Given the description of an element on the screen output the (x, y) to click on. 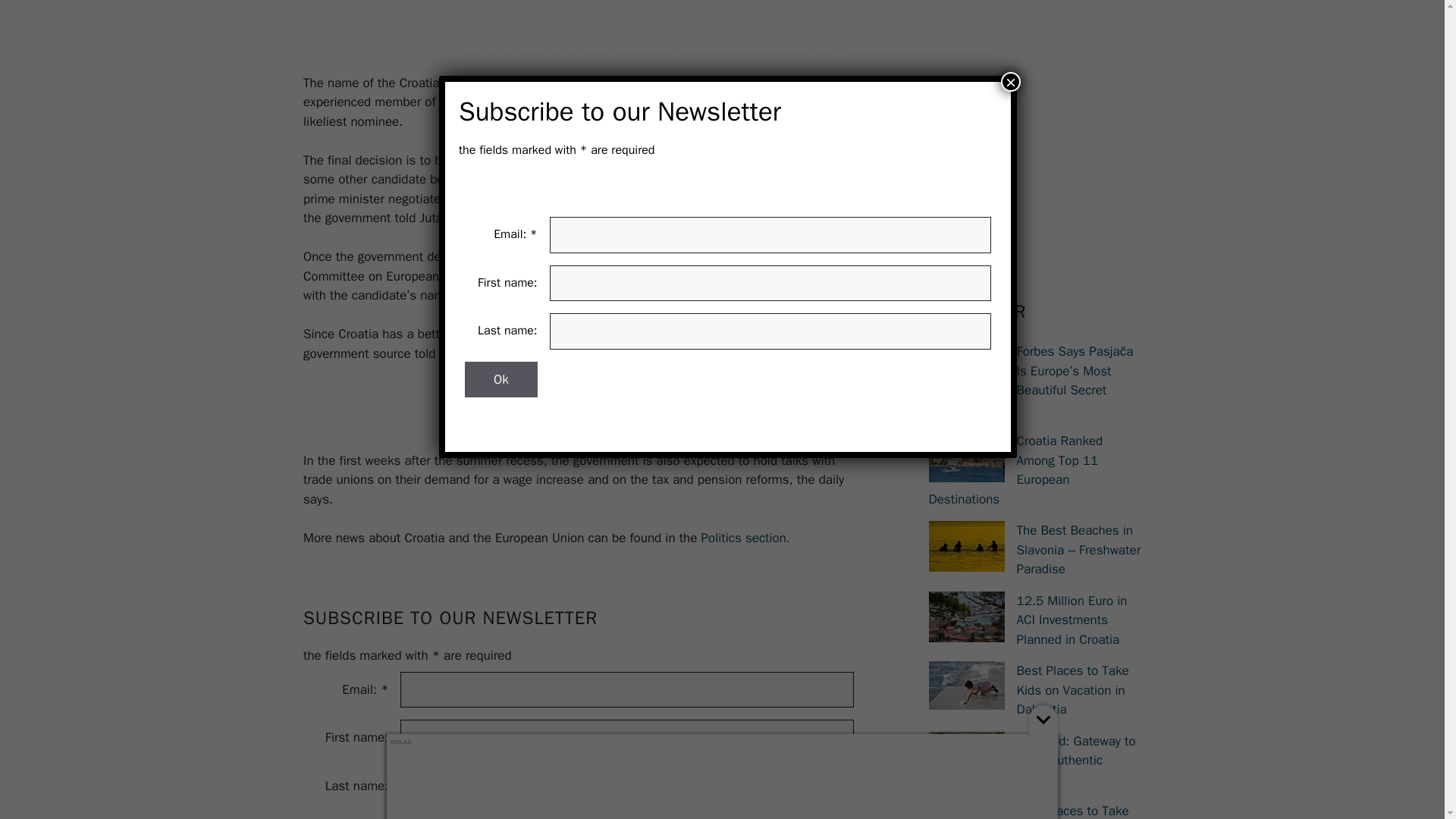
3rd party ad content (587, 36)
